Given the description of an element on the screen output the (x, y) to click on. 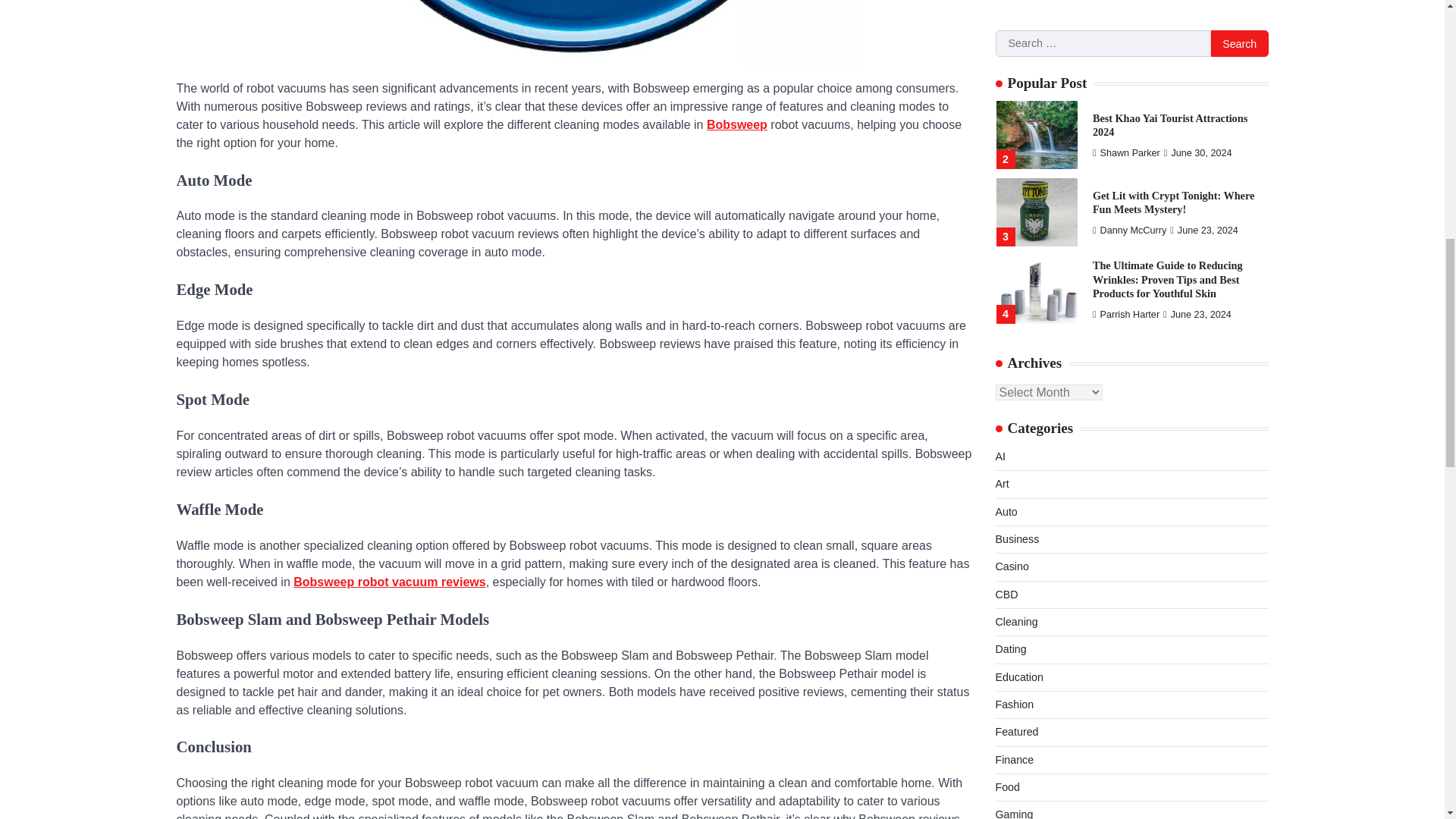
Bobsweep (736, 124)
Bobsweep robot vacuum reviews (389, 581)
